Given the description of an element on the screen output the (x, y) to click on. 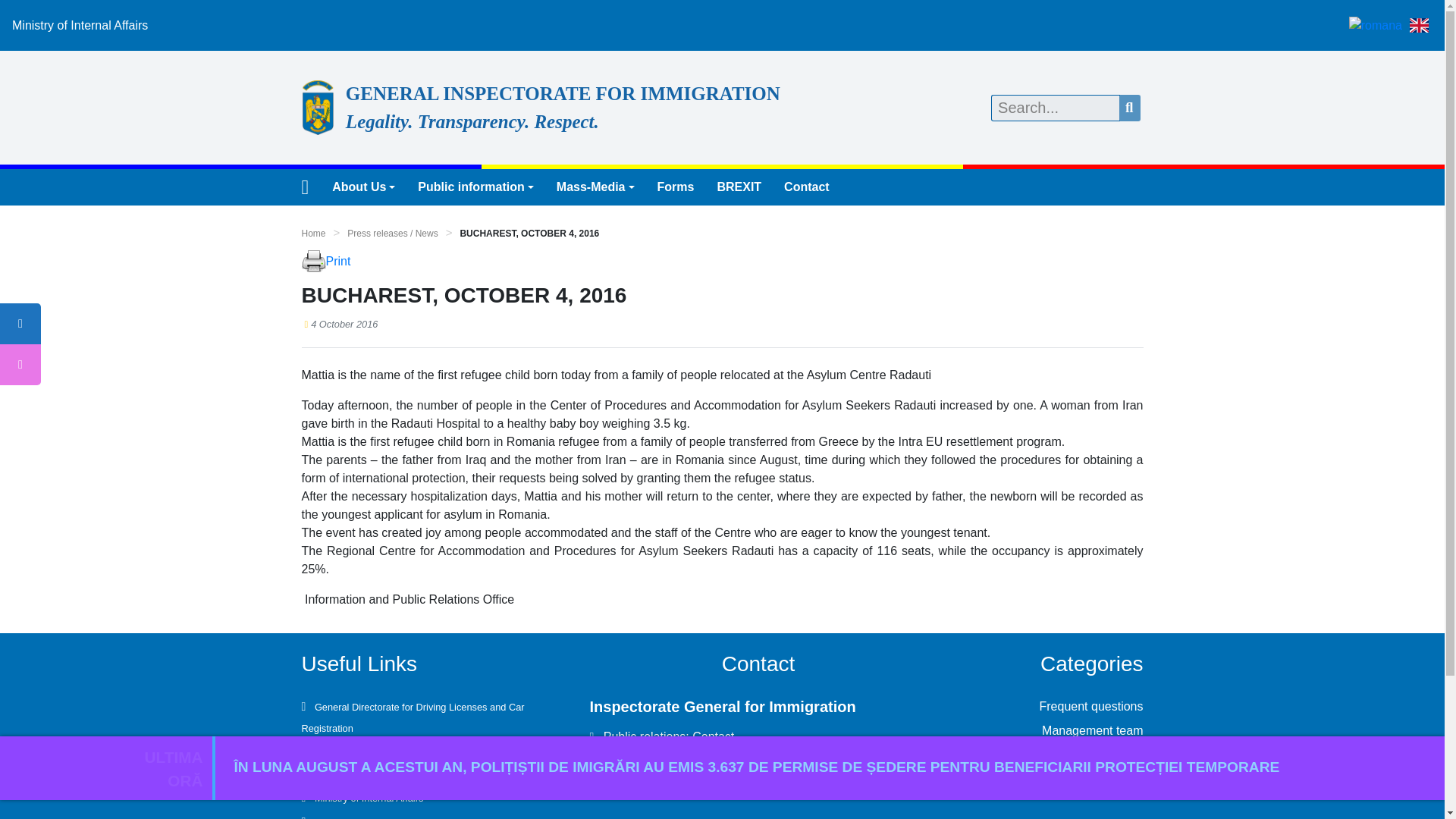
Forms (676, 186)
About Us (363, 186)
Frequent questions (1090, 706)
Print (313, 261)
Home (313, 233)
General Directorate of Passports (383, 749)
BUCHAREST, OCTOBER 4, 2016 (529, 233)
Print (338, 261)
